Given the description of an element on the screen output the (x, y) to click on. 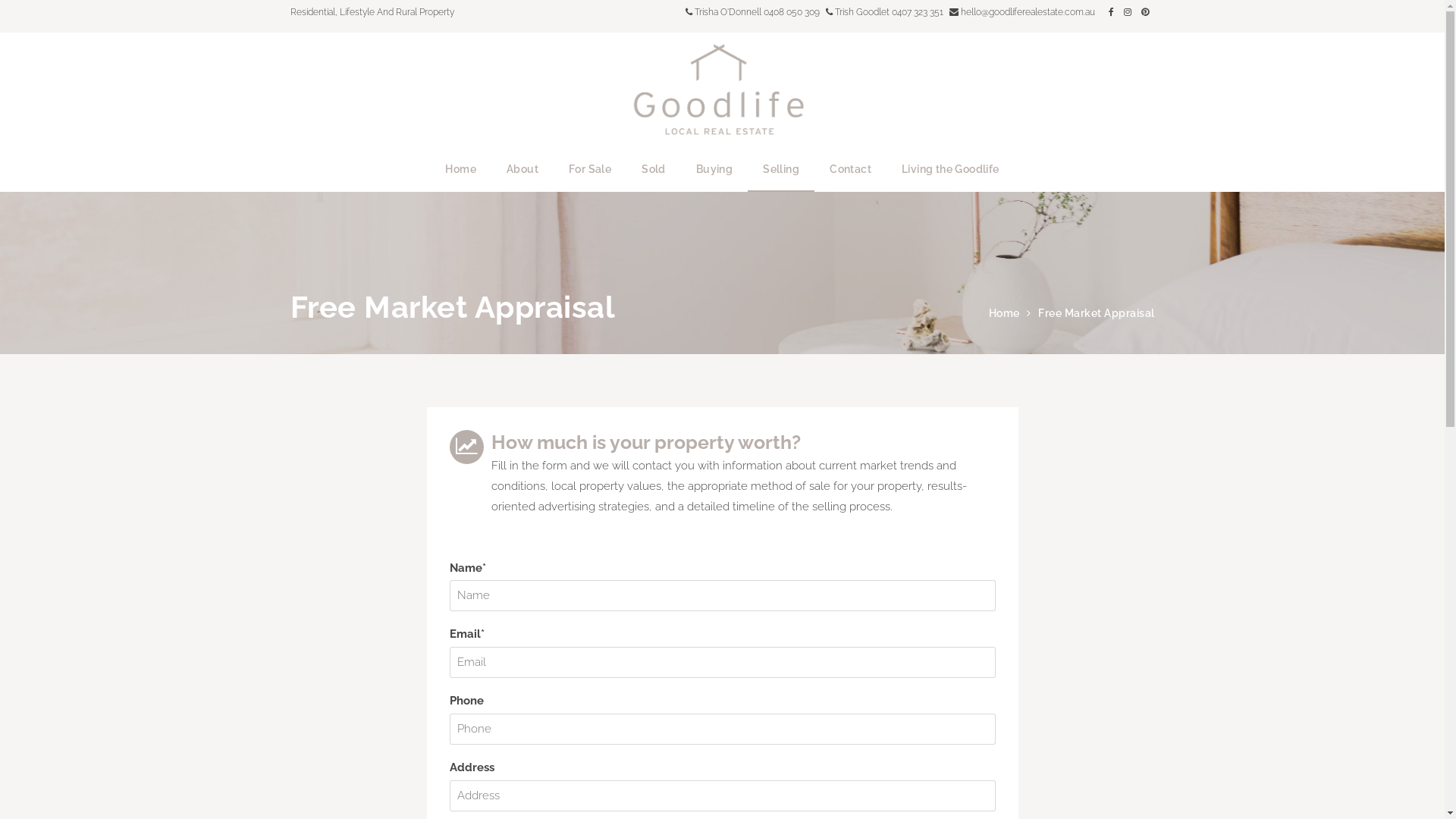
For Sale Element type: text (589, 168)
About Element type: text (522, 168)
Selling Element type: text (780, 168)
hello@goodliferealestate.com.au Element type: text (1022, 11)
Contact Element type: text (850, 168)
Free Market Appraisal Element type: text (1096, 313)
Trisha O'Donnell 0408 050 309 Element type: text (752, 11)
Sold Element type: text (653, 168)
Living the Goodlife Element type: text (950, 168)
Trish Goodlet 0407 323 351 Element type: text (883, 11)
Buying Element type: text (713, 168)
Home Element type: text (460, 168)
